Given the description of an element on the screen output the (x, y) to click on. 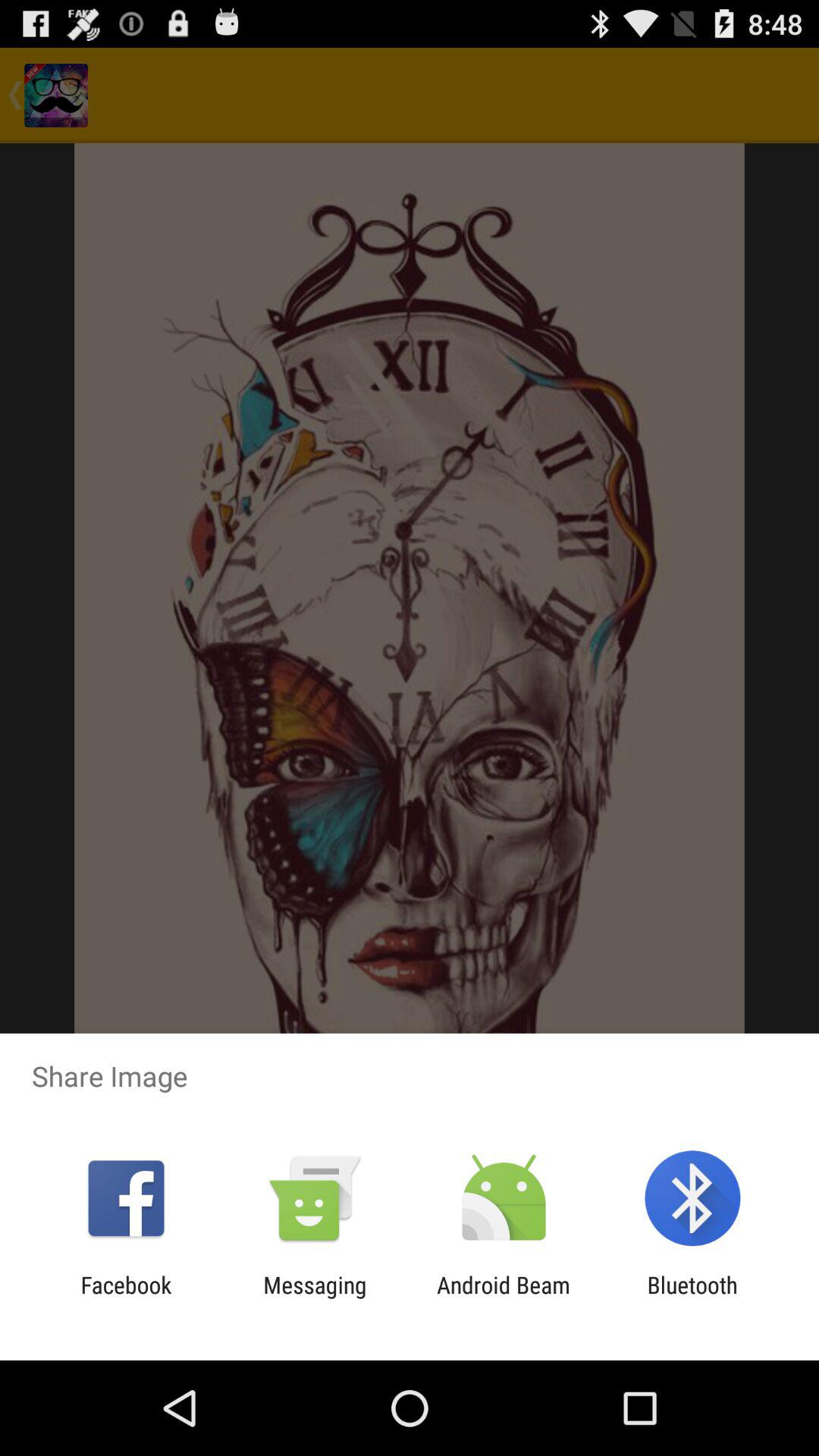
turn off the item next to the android beam item (314, 1298)
